Given the description of an element on the screen output the (x, y) to click on. 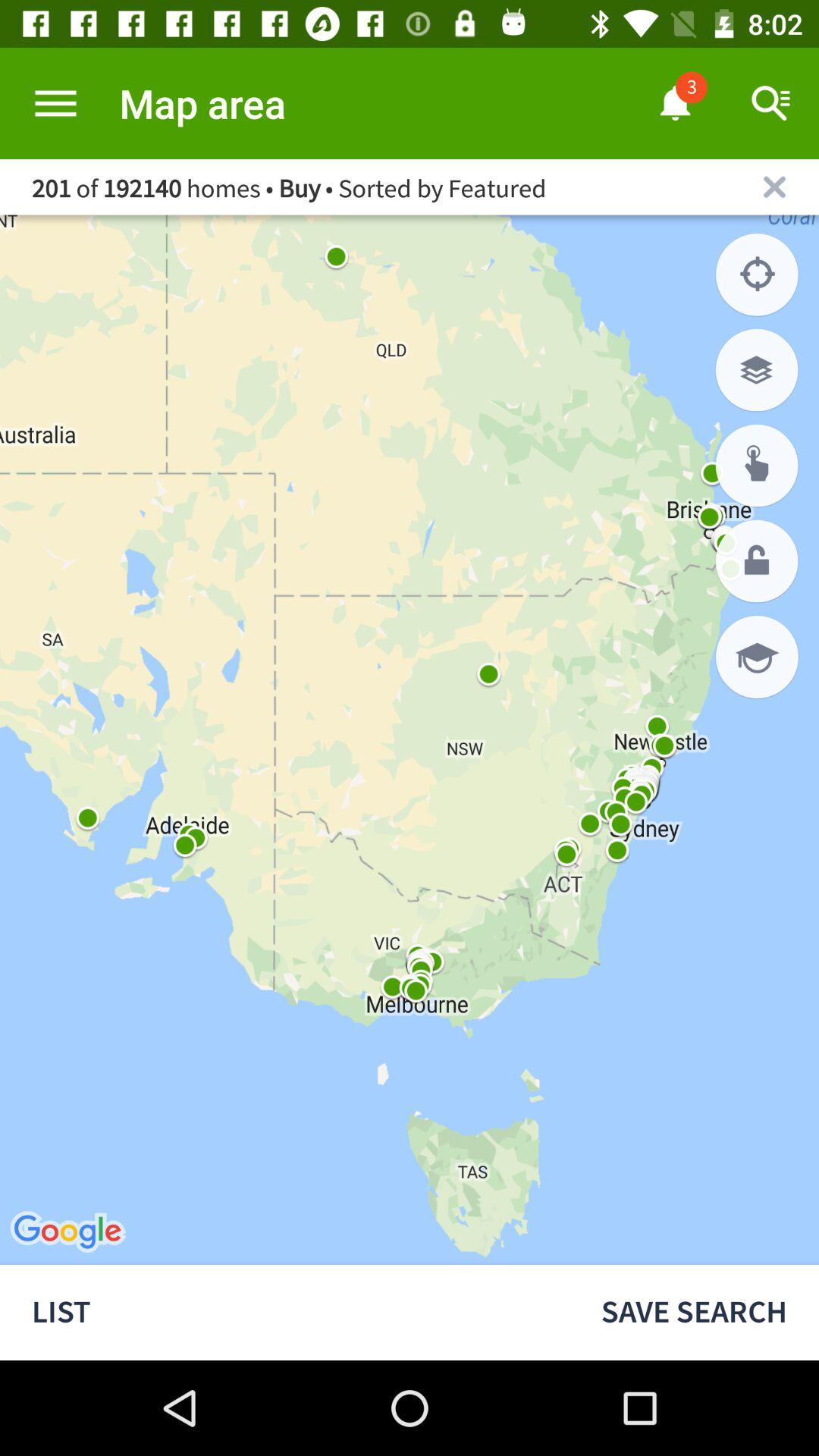
touchscreen (756, 465)
